Given the description of an element on the screen output the (x, y) to click on. 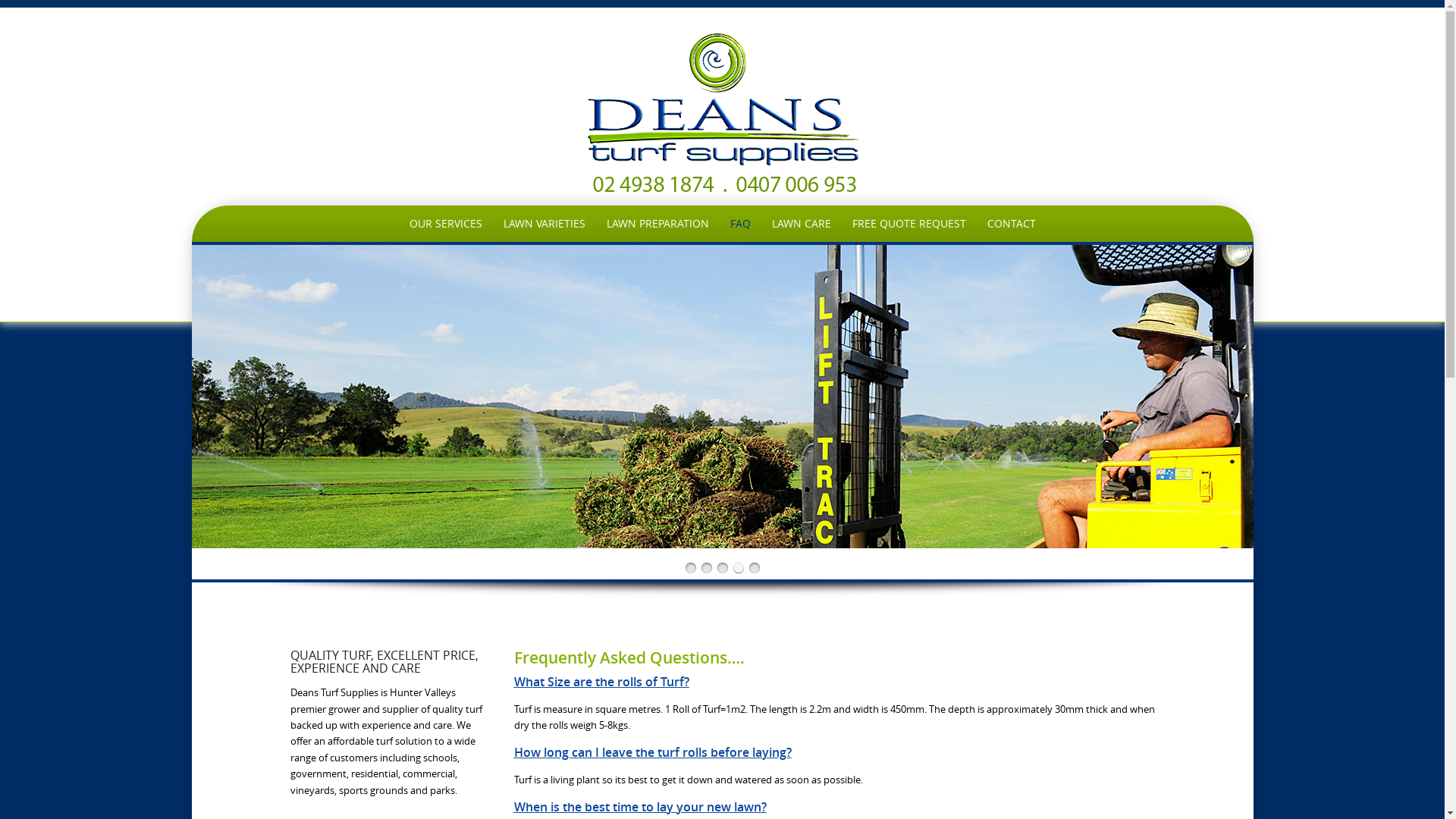
SKIP TO CONTENT Element type: text (293, 208)
Deans Turf Supplies Element type: hover (721, 112)
LAWN VARIETIES Element type: text (544, 223)
FAQ Element type: text (739, 223)
FREE QUOTE REQUEST Element type: text (909, 223)
LAWN CARE Element type: text (801, 223)
OUR SERVICES Element type: text (445, 223)
CONTACT Element type: text (1011, 223)
LAWN PREPARATION Element type: text (657, 223)
